Given the description of an element on the screen output the (x, y) to click on. 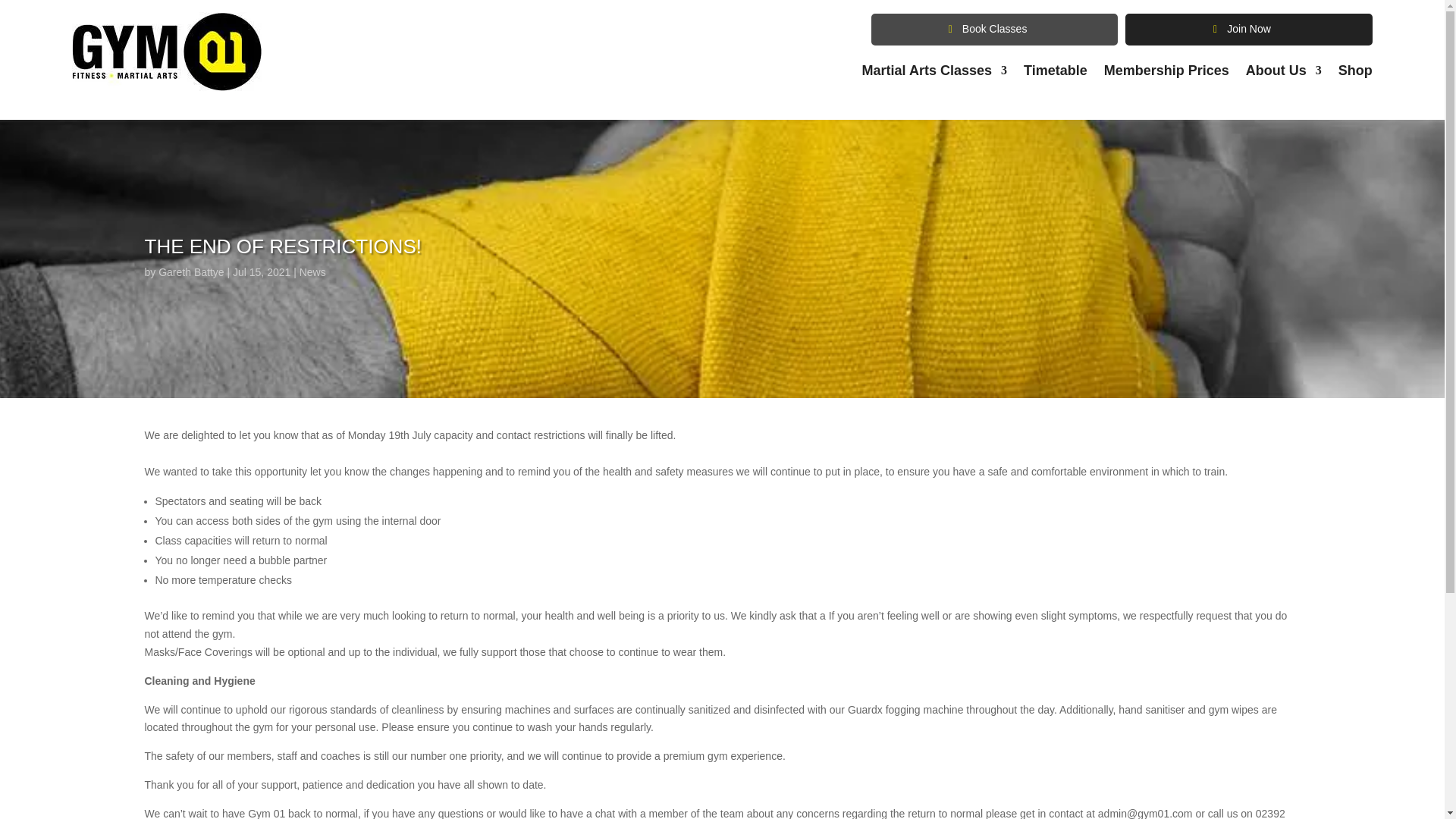
News (312, 272)
Gareth Battye (191, 272)
Posts by Gareth Battye (191, 272)
Book Classes (994, 29)
Timetable (1055, 73)
Membership Prices (1165, 73)
About Us (1284, 73)
Shop (1355, 73)
GYM01 logo home (166, 51)
Martial Arts Classes (934, 73)
